Given the description of an element on the screen output the (x, y) to click on. 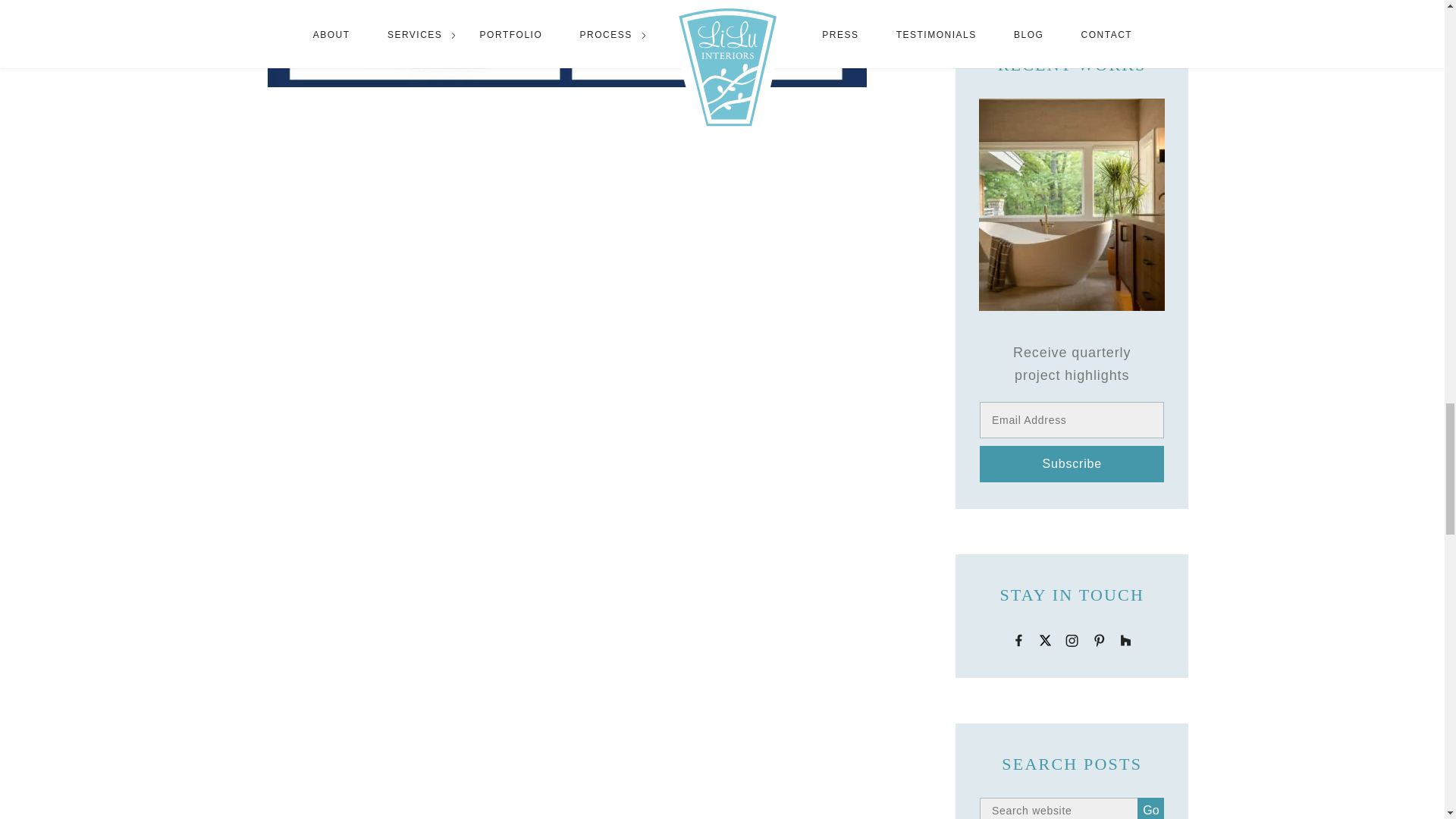
Pinterest (1099, 639)
Go (1150, 808)
Twitter (1045, 639)
Oasis In the Woods (1071, 203)
Instagram (1071, 639)
Subscribe (1071, 463)
Facebook (1018, 639)
